Given the description of an element on the screen output the (x, y) to click on. 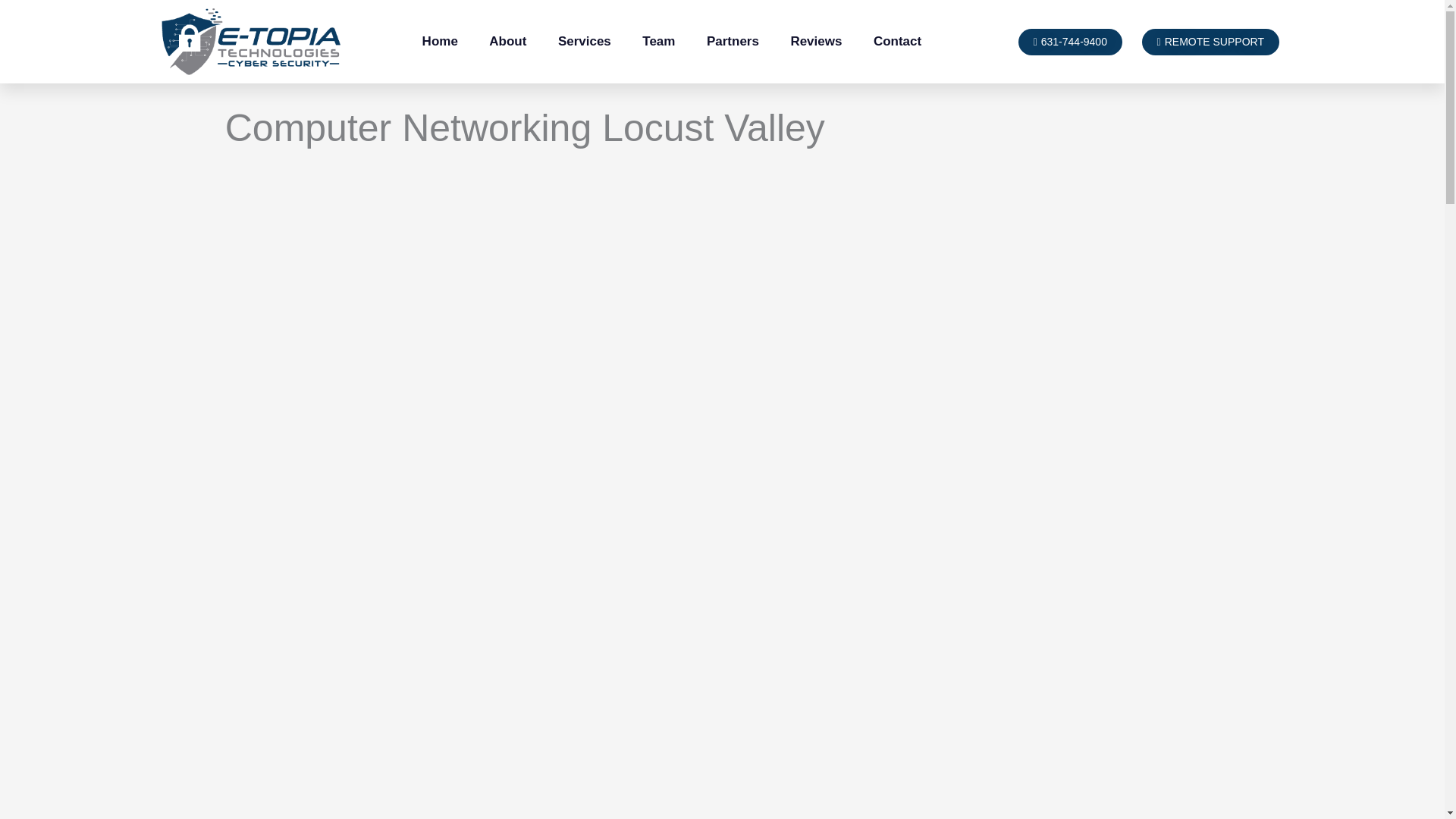
Home (440, 41)
Partners (732, 41)
Services (583, 41)
Team (659, 41)
Contact (897, 41)
Reviews (816, 41)
About (508, 41)
